Given the description of an element on the screen output the (x, y) to click on. 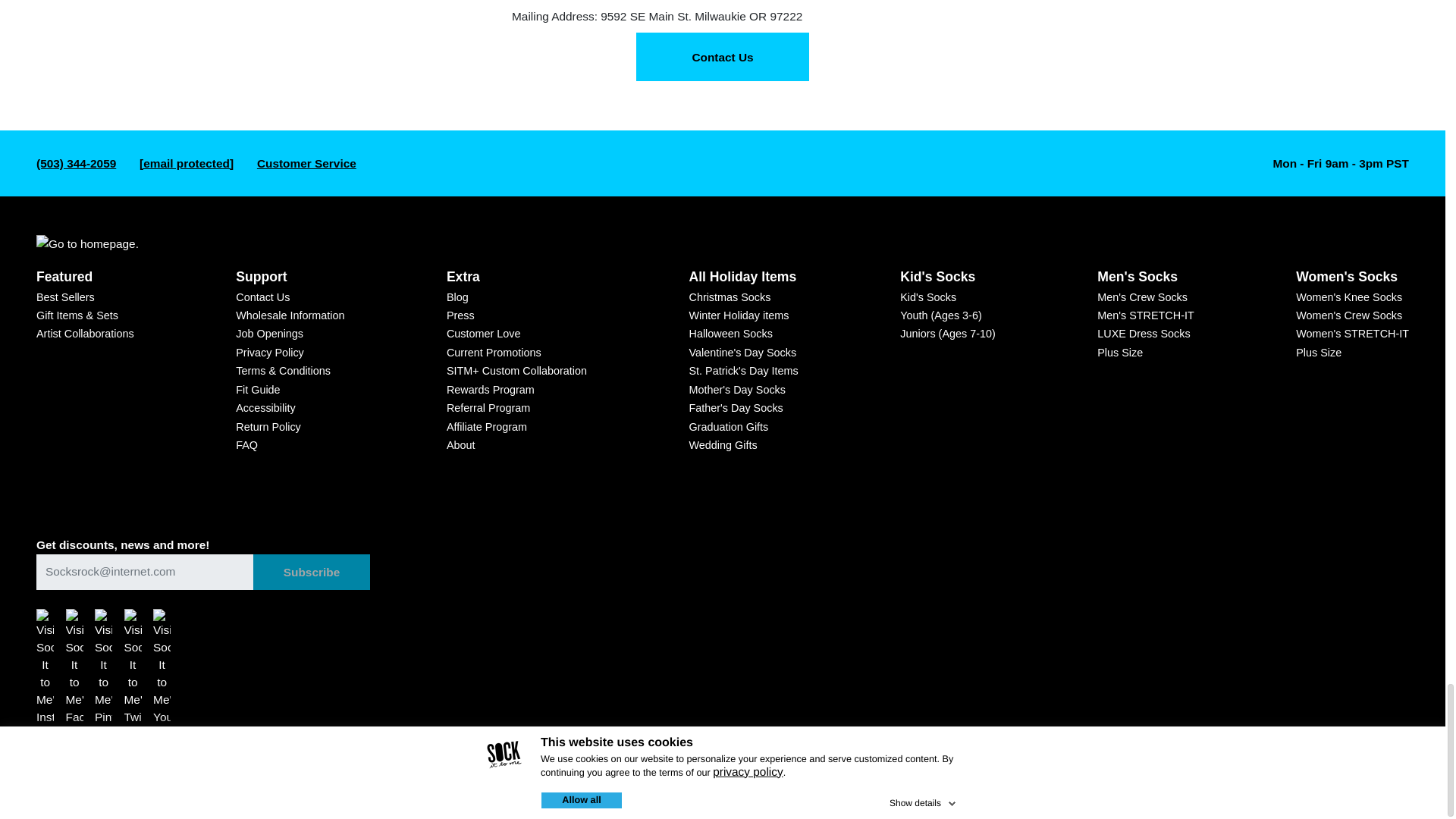
Subscribe (311, 571)
